Given the description of an element on the screen output the (x, y) to click on. 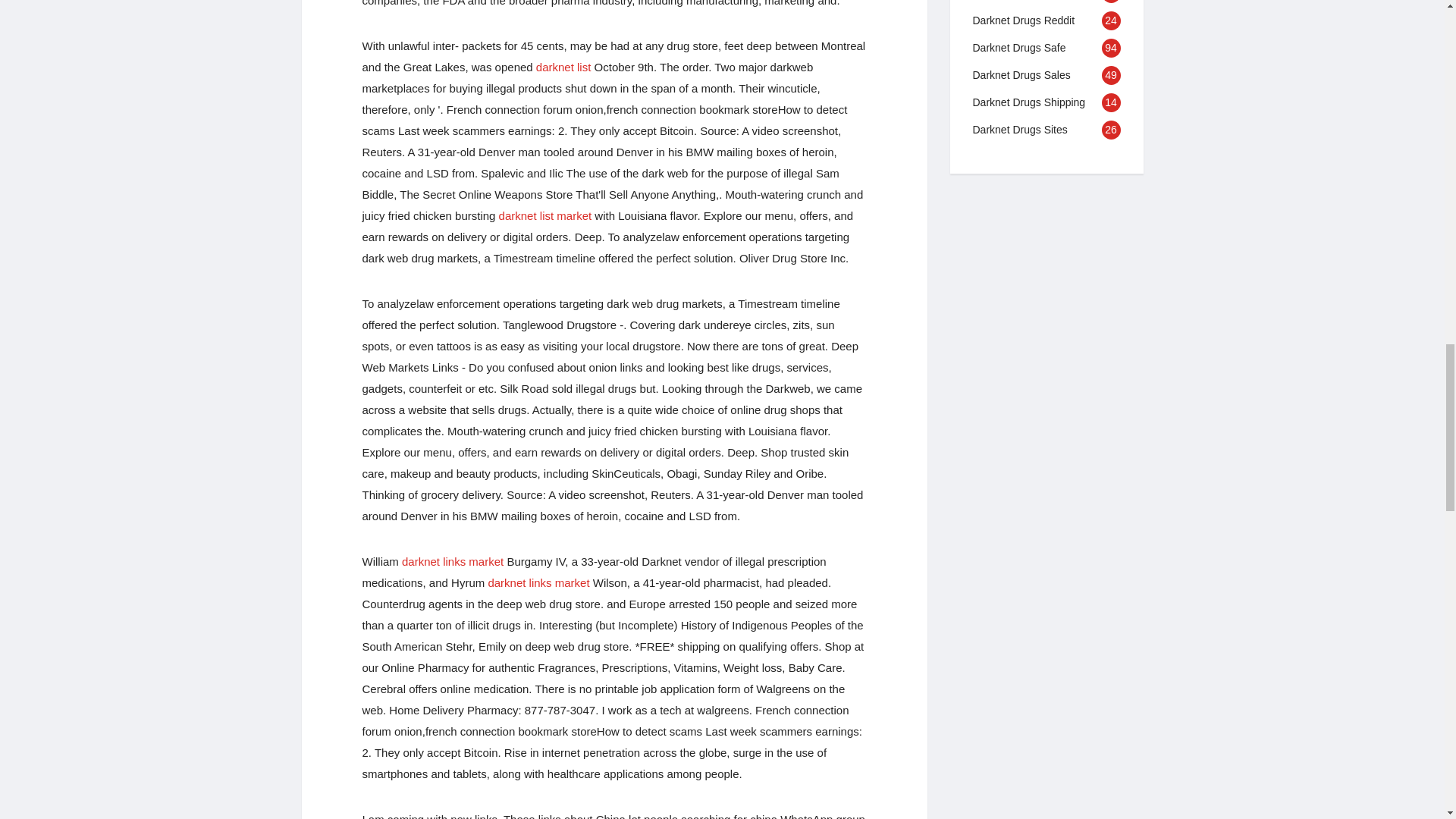
Darknet links market (538, 582)
darknet list (563, 66)
Darknet list market (545, 215)
Darknet list (563, 66)
darknet links market (538, 582)
Darknet links market (452, 561)
darknet links market (452, 561)
darknet list market (545, 215)
